Given the description of an element on the screen output the (x, y) to click on. 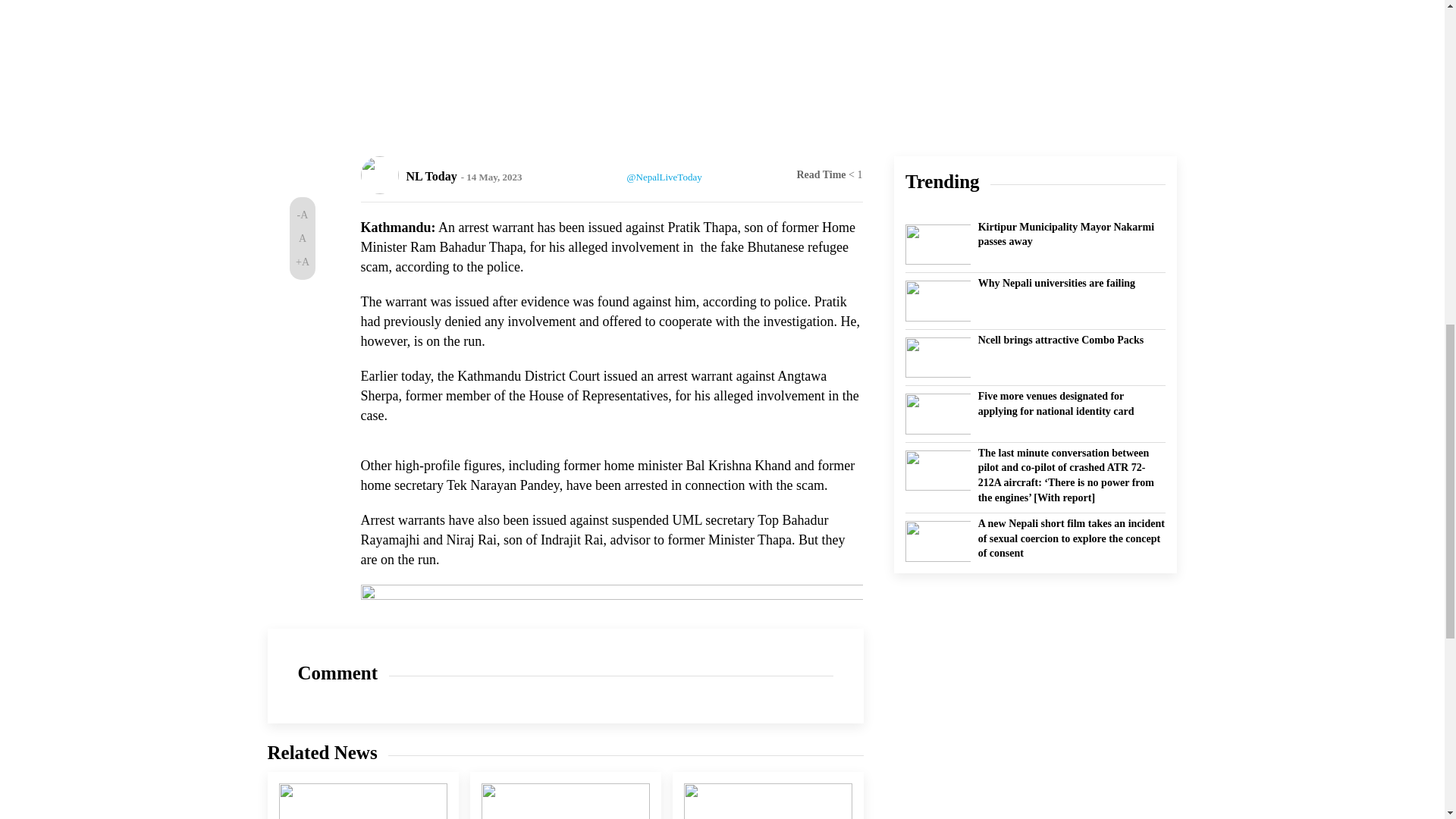
NL Today (431, 175)
